Given the description of an element on the screen output the (x, y) to click on. 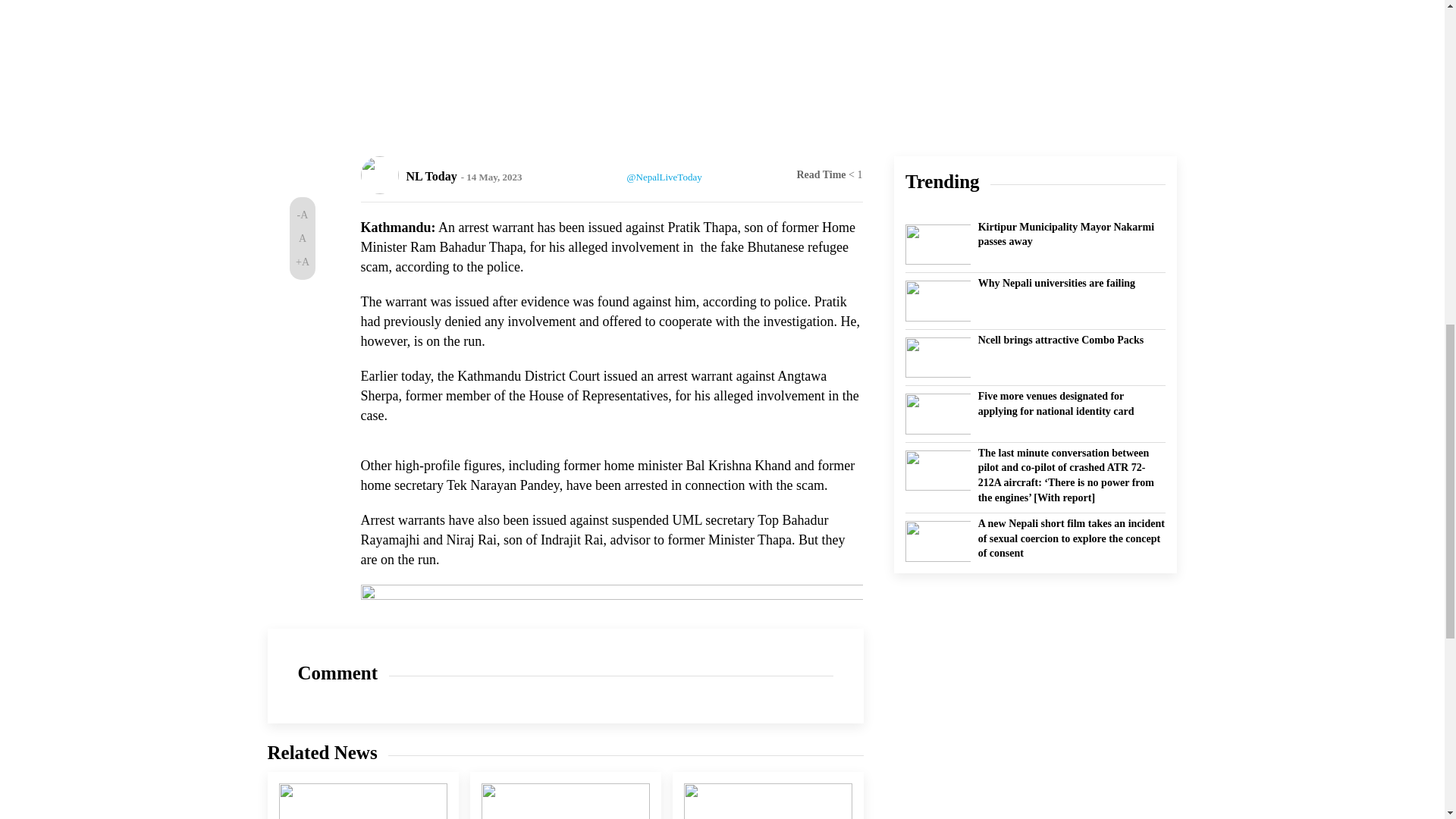
NL Today (431, 175)
